Given the description of an element on the screen output the (x, y) to click on. 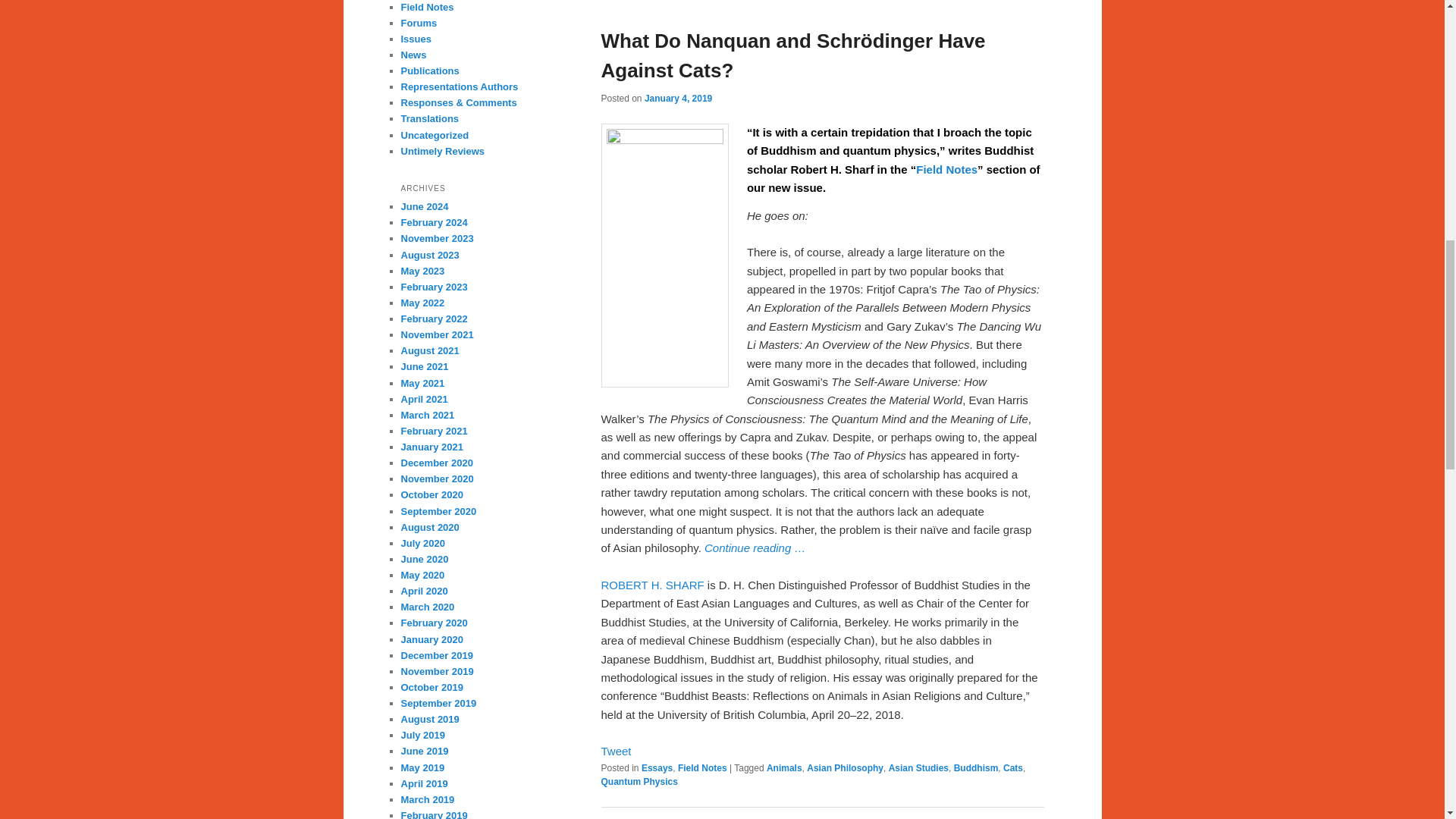
Essays (657, 767)
Asian Studies (918, 767)
7:47 pm (678, 97)
Animals (784, 767)
Tweet (614, 750)
Field Notes (945, 169)
January 4, 2019 (678, 97)
Asian Philosophy (844, 767)
ROBERT H. SHARF (651, 584)
Field Notes (702, 767)
